Given the description of an element on the screen output the (x, y) to click on. 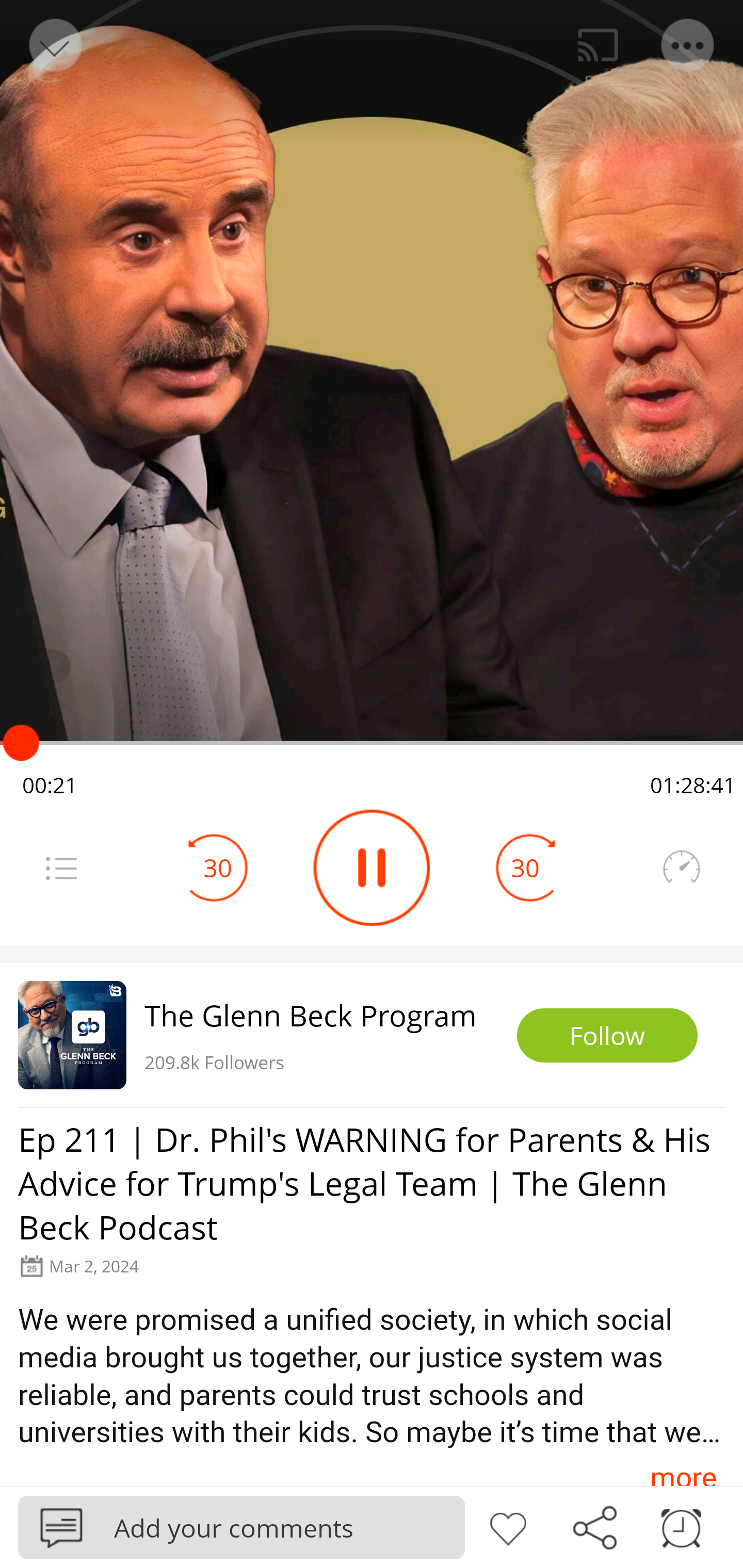
Back (53, 45)
Cast. Disconnected (597, 45)
Menu (688, 45)
Play (371, 867)
30 Seek Backward (217, 867)
30 Seek Forward (525, 867)
Menu (60, 867)
Speedometer (681, 867)
The Glenn Beck Program 209.8k Followers Follow (371, 1034)
Follow (607, 1035)
Like (508, 1526)
Share (594, 1526)
Sleep timer (681, 1526)
Podbean Add your comments (241, 1526)
